Given the description of an element on the screen output the (x, y) to click on. 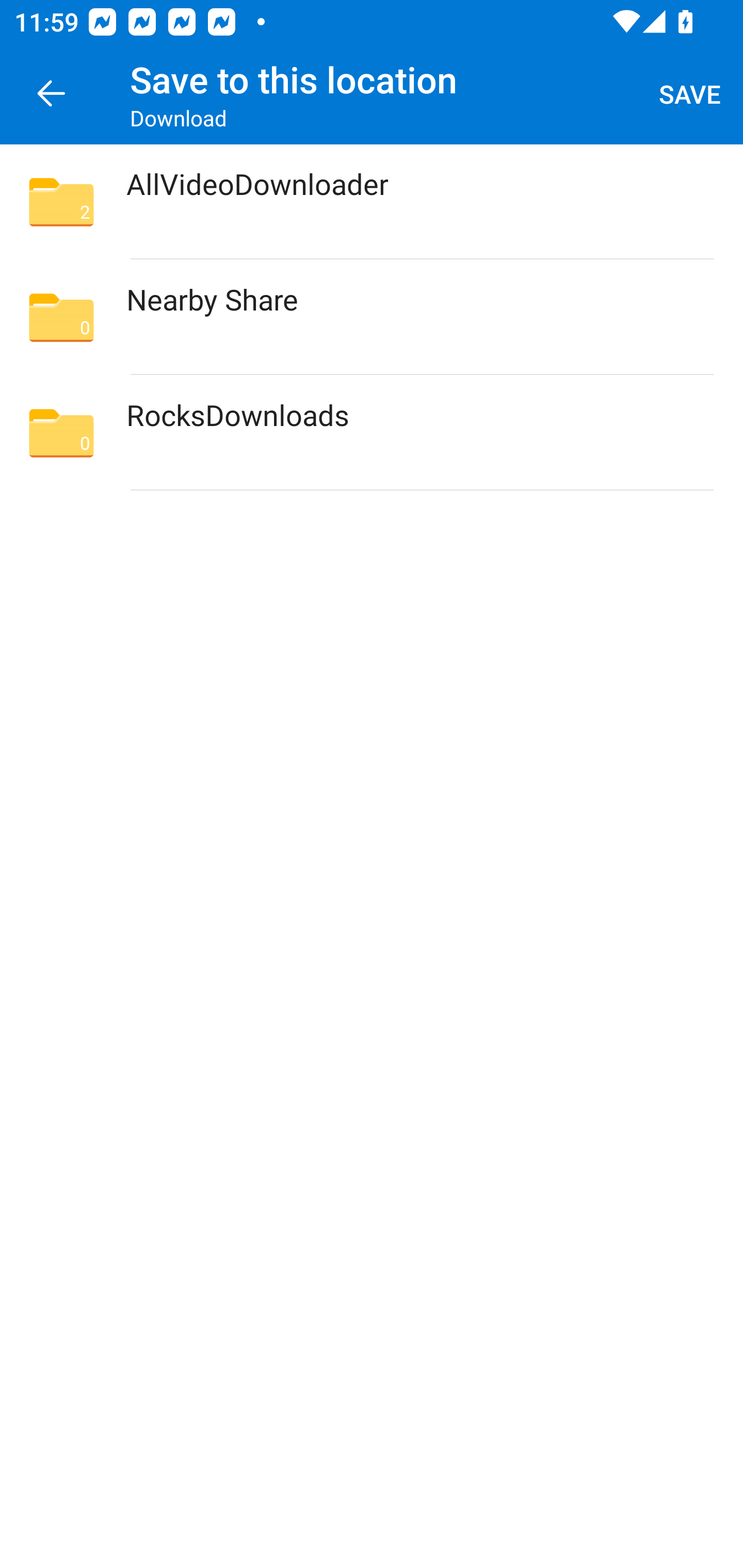
Navigate up (50, 93)
SAVE (690, 93)
Folder 2 2 items AllVideoDownloader (371, 202)
Folder 0 0 items Nearby Share (371, 317)
Folder 0 0 items RocksDownloads (371, 432)
